Given the description of an element on the screen output the (x, y) to click on. 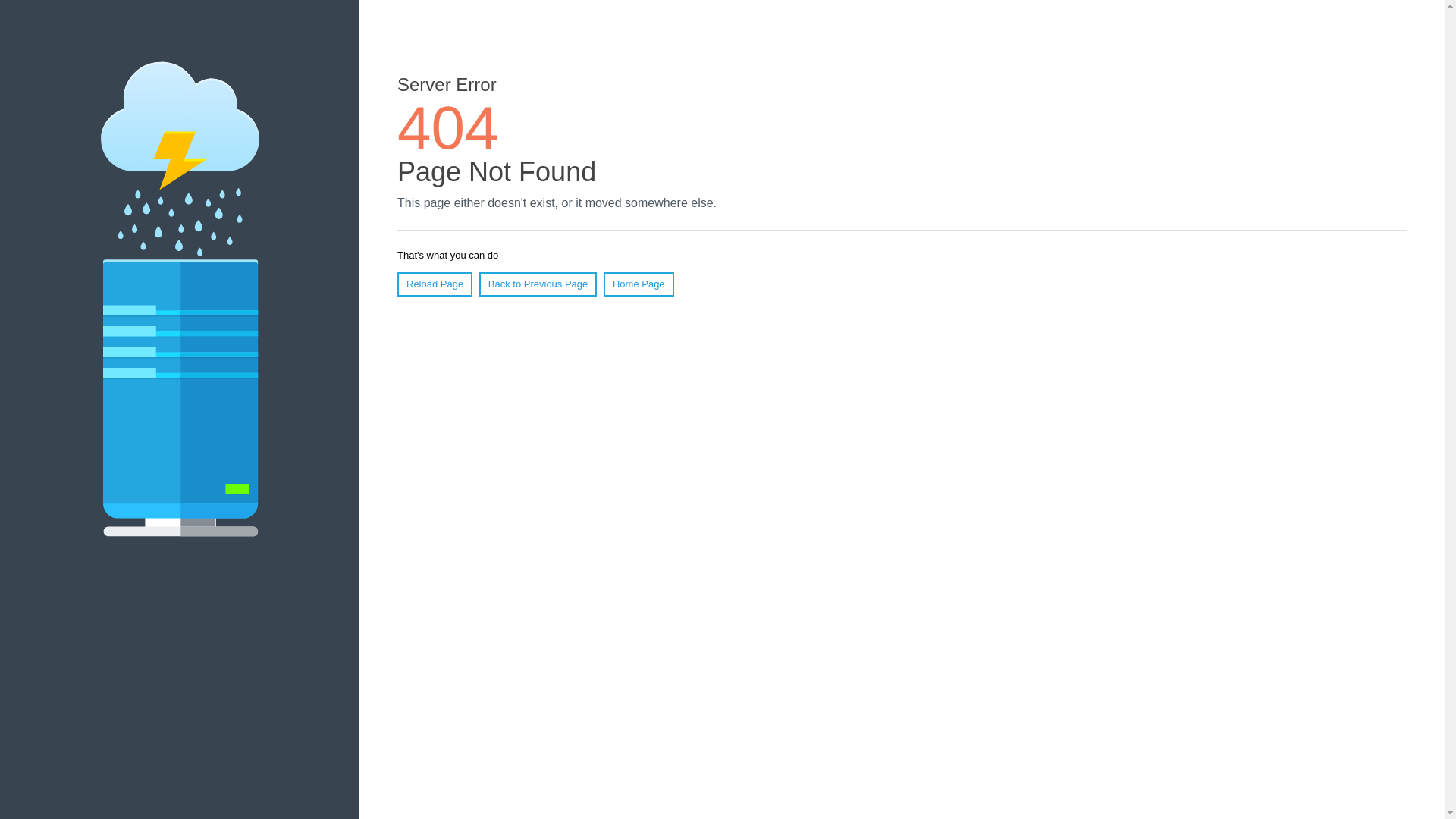
Back to Previous Page Element type: text (538, 284)
Home Page Element type: text (638, 284)
Reload Page Element type: text (434, 284)
